Given the description of an element on the screen output the (x, y) to click on. 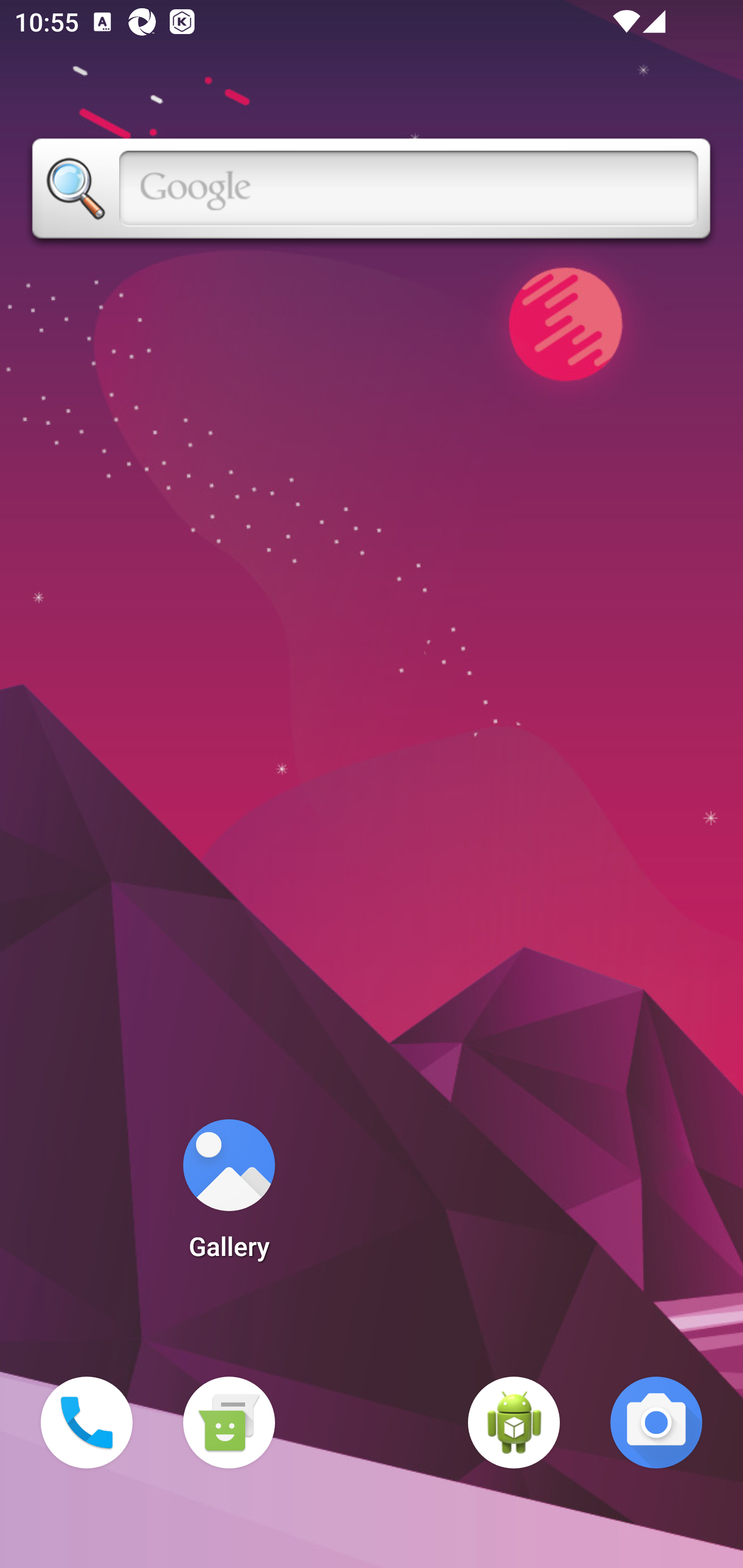
Gallery (228, 1195)
Phone (86, 1422)
Messaging (228, 1422)
WebView Browser Tester (513, 1422)
Camera (656, 1422)
